Given the description of an element on the screen output the (x, y) to click on. 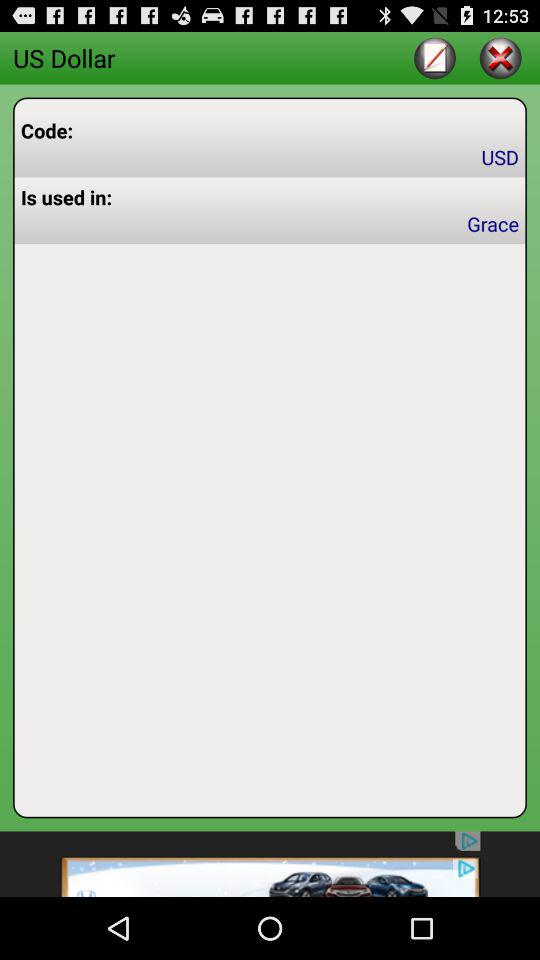
close (500, 57)
